Given the description of an element on the screen output the (x, y) to click on. 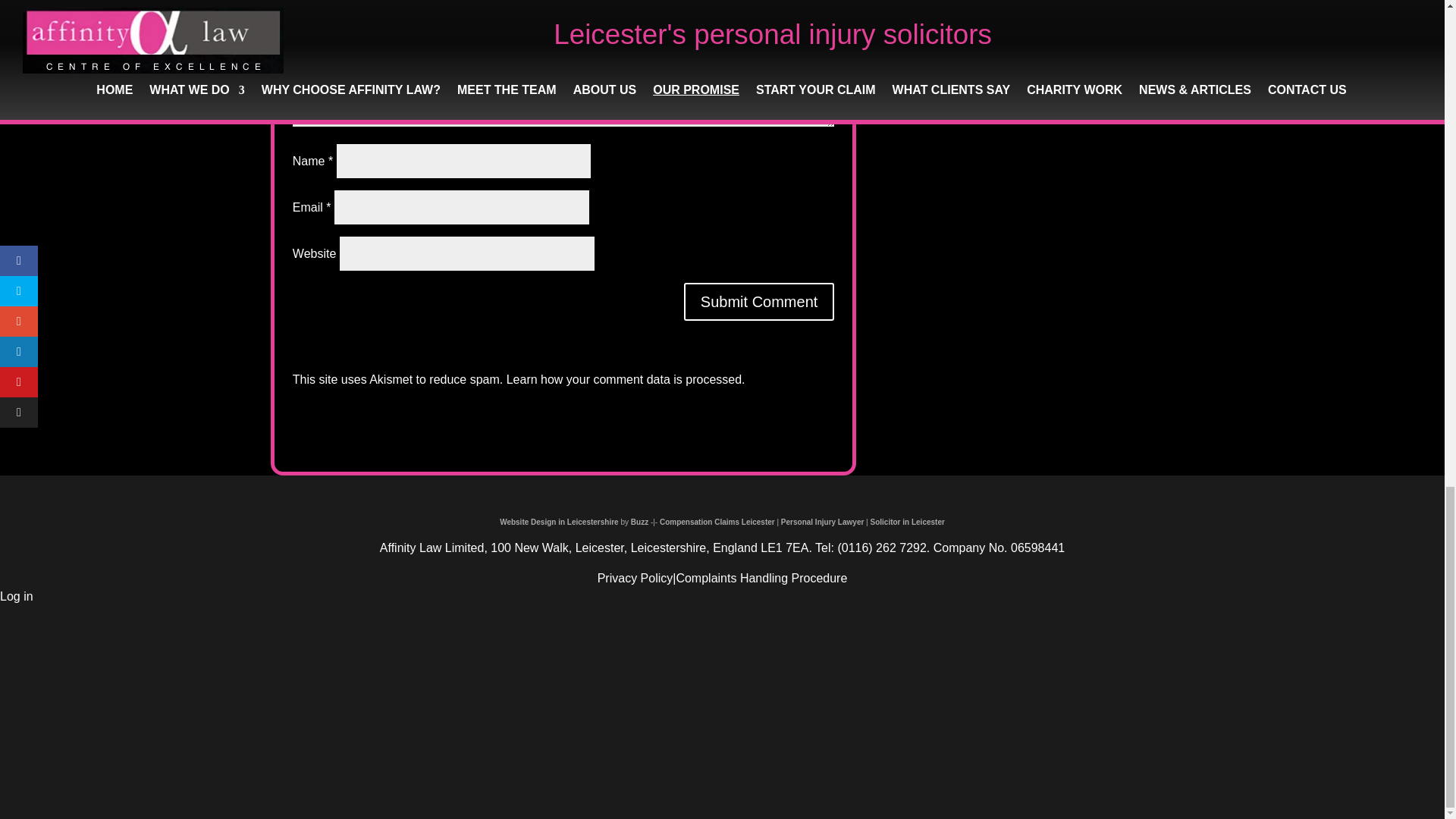
Website Design in Leicestershire (638, 521)
Learn how your comment data is processed (623, 379)
Website Design in Leicestershire (558, 521)
Submit Comment (759, 301)
Submit Comment (759, 301)
